Given the description of an element on the screen output the (x, y) to click on. 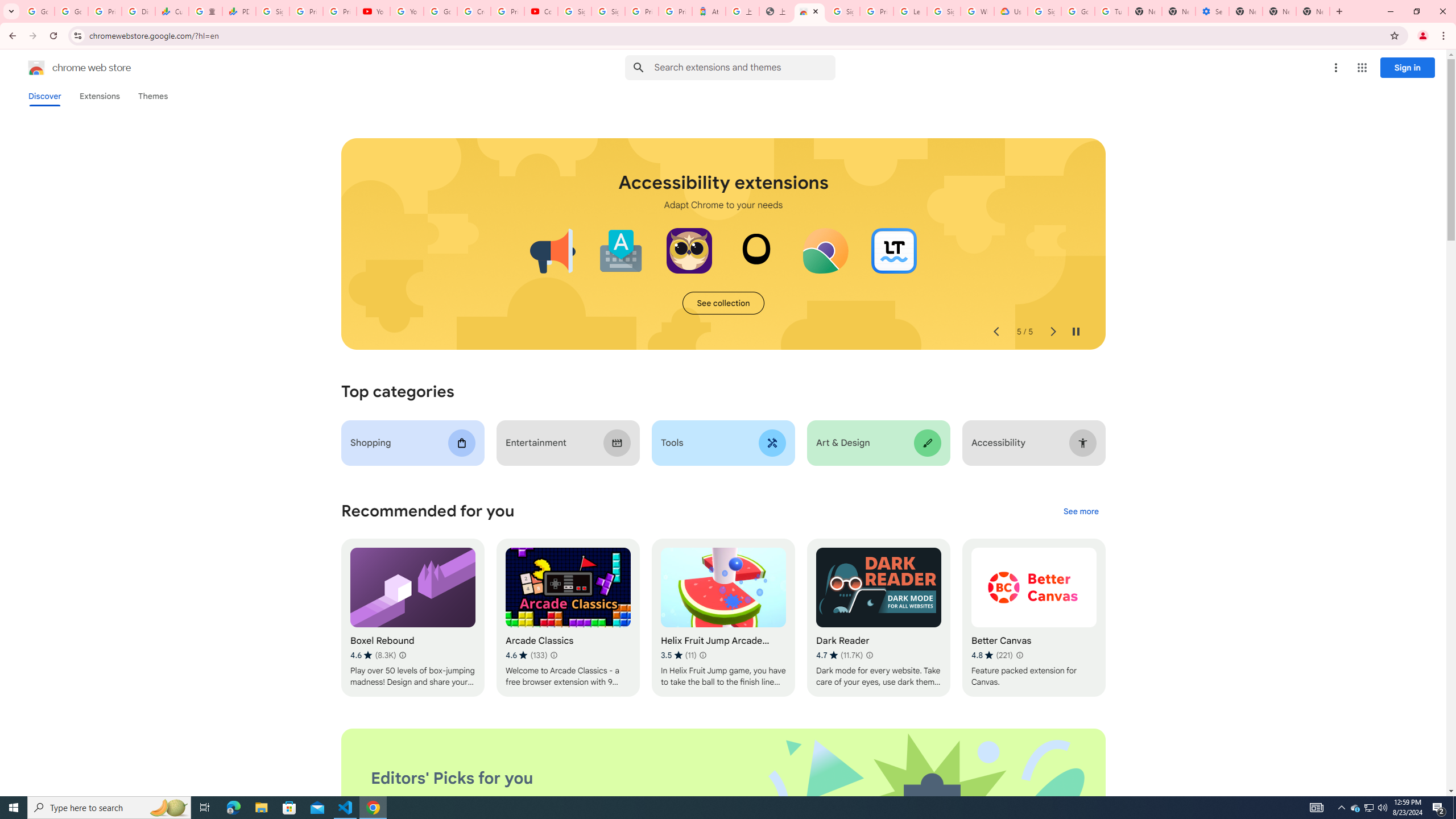
Learn more about results and reviews "Boxel Rebound" (402, 655)
Settings - Addresses and more (1212, 11)
Turn cookies on or off - Computer - Google Account Help (1111, 11)
Learn more about results and reviews "Arcade Classics" (553, 655)
Better Canvas (1033, 617)
Boxel Rebound (412, 617)
YouTube (372, 11)
Sign in - Google Accounts (1043, 11)
Chrome (1445, 35)
Learn more about results and reviews "Dark Reader" (869, 655)
Search input (744, 67)
Atour Hotel - Google hotels (708, 11)
Themes (152, 95)
